Given the description of an element on the screen output the (x, y) to click on. 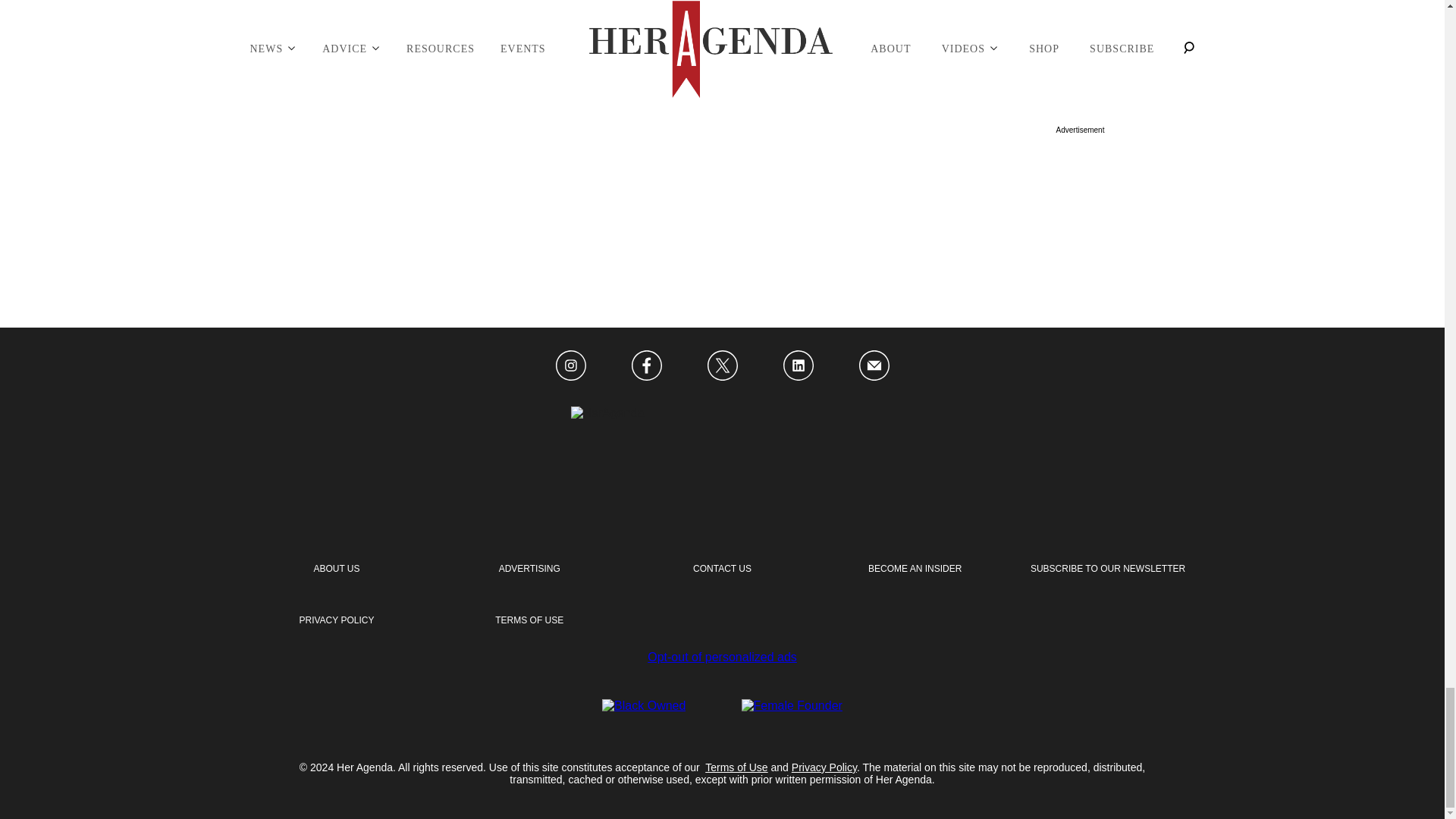
Link to LinkedIn (797, 367)
Advertising (529, 568)
Link to X (721, 367)
Newsletter signup (1107, 568)
Contact Us (722, 568)
Newsletter signup (336, 620)
About Us (336, 568)
Link to Email (873, 367)
Become an Insider (913, 568)
Link to Facebook (645, 367)
